Given the description of an element on the screen output the (x, y) to click on. 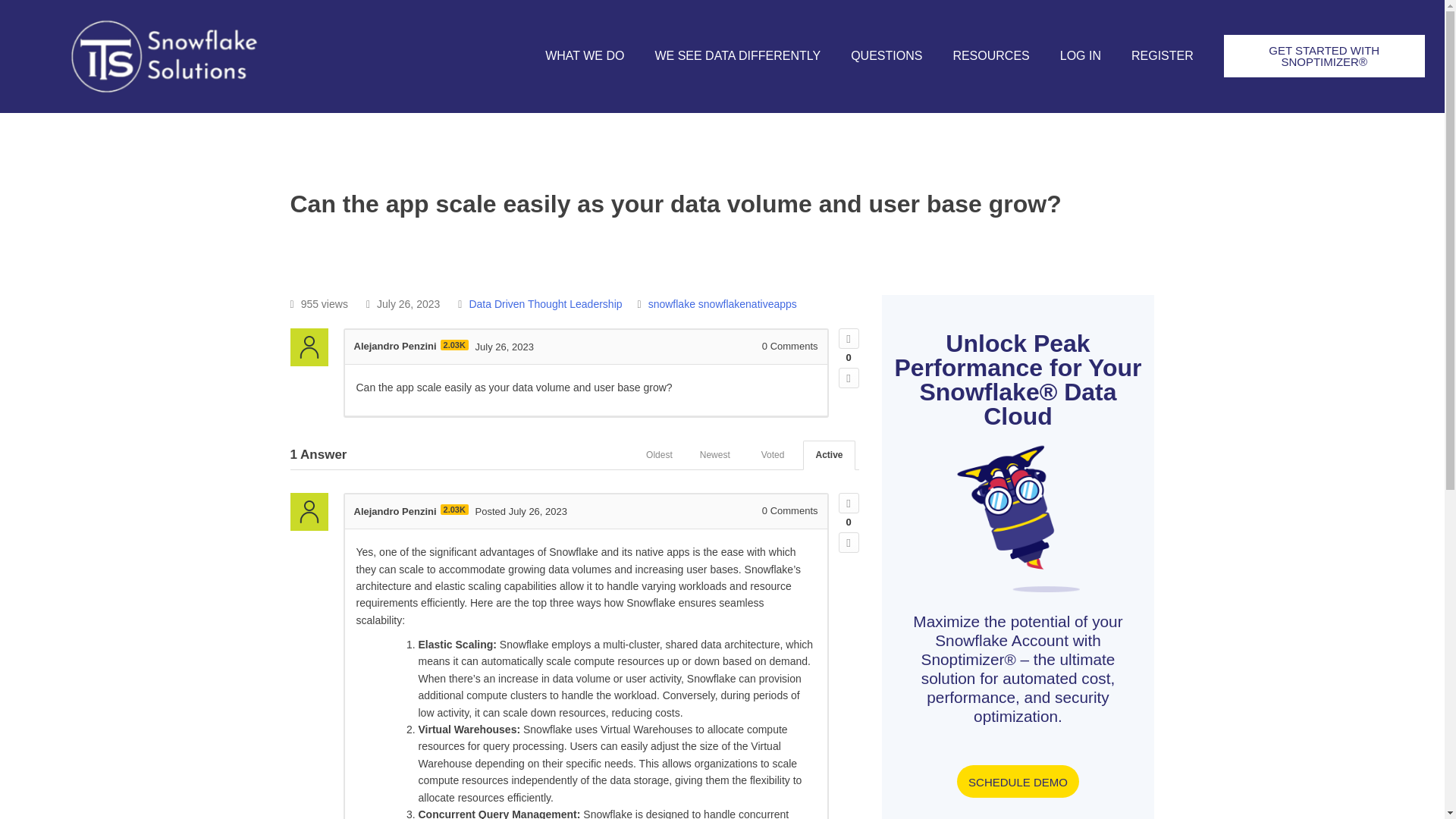
Voted (772, 455)
Down vote this question (848, 377)
SCHEDULE DEMO (1017, 780)
Up vote this question (848, 338)
snowflakenativeapps (747, 304)
WE SEE DATA DIFFERENTLY (737, 55)
snowflake (671, 304)
Posted July 26, 2023 (521, 510)
Reputation (454, 509)
July 26, 2023 (505, 346)
WHAT WE DO (584, 55)
LOG IN (1080, 55)
Down vote this answer (848, 542)
RESOURCES (990, 55)
QUESTIONS (886, 55)
